Given the description of an element on the screen output the (x, y) to click on. 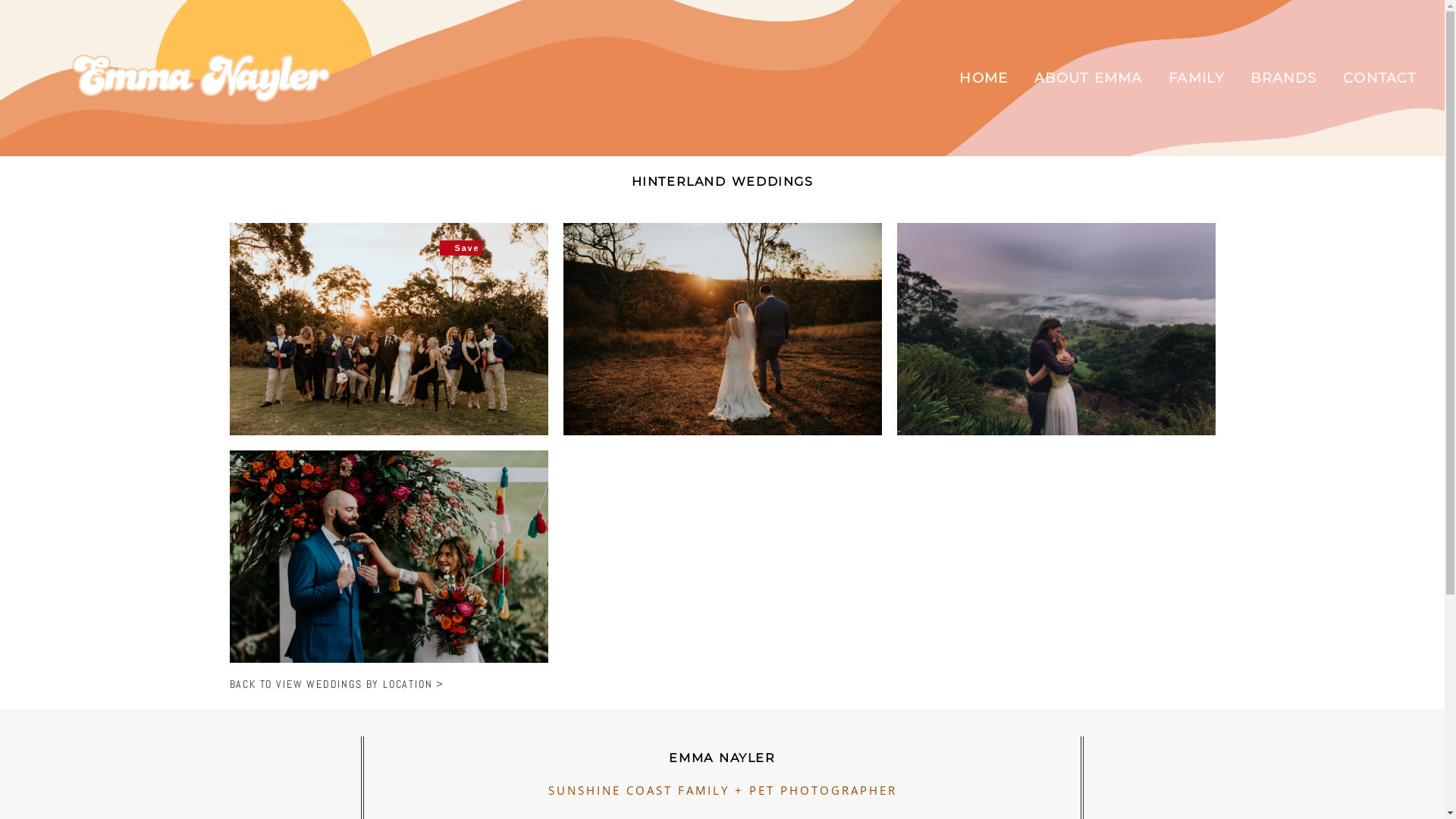
CONTACT Element type: text (1379, 77)
HOME Element type: text (983, 77)
FAMILY Element type: text (1195, 77)
BRANDS Element type: text (1283, 77)
ABOUT EMMA Element type: text (1088, 77)
BACK TO VIEW WEDDINGS BY LOCATION > Element type: text (336, 683)
